Given the description of an element on the screen output the (x, y) to click on. 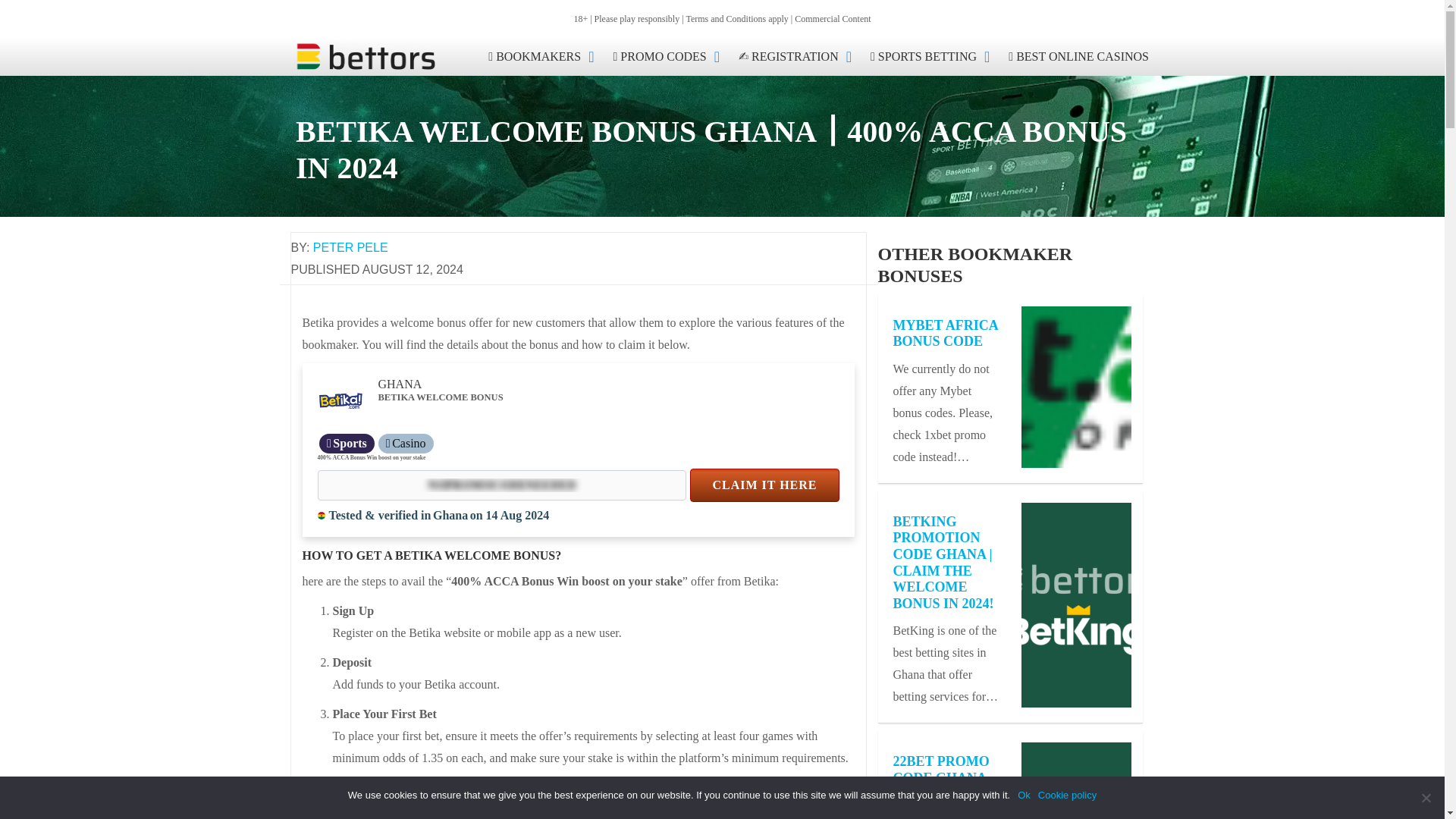
PETER PELE (350, 246)
Sports (346, 443)
No Promo Code Needed (501, 485)
Casino (405, 443)
CLAIM IT HERE (764, 485)
